Given the description of an element on the screen output the (x, y) to click on. 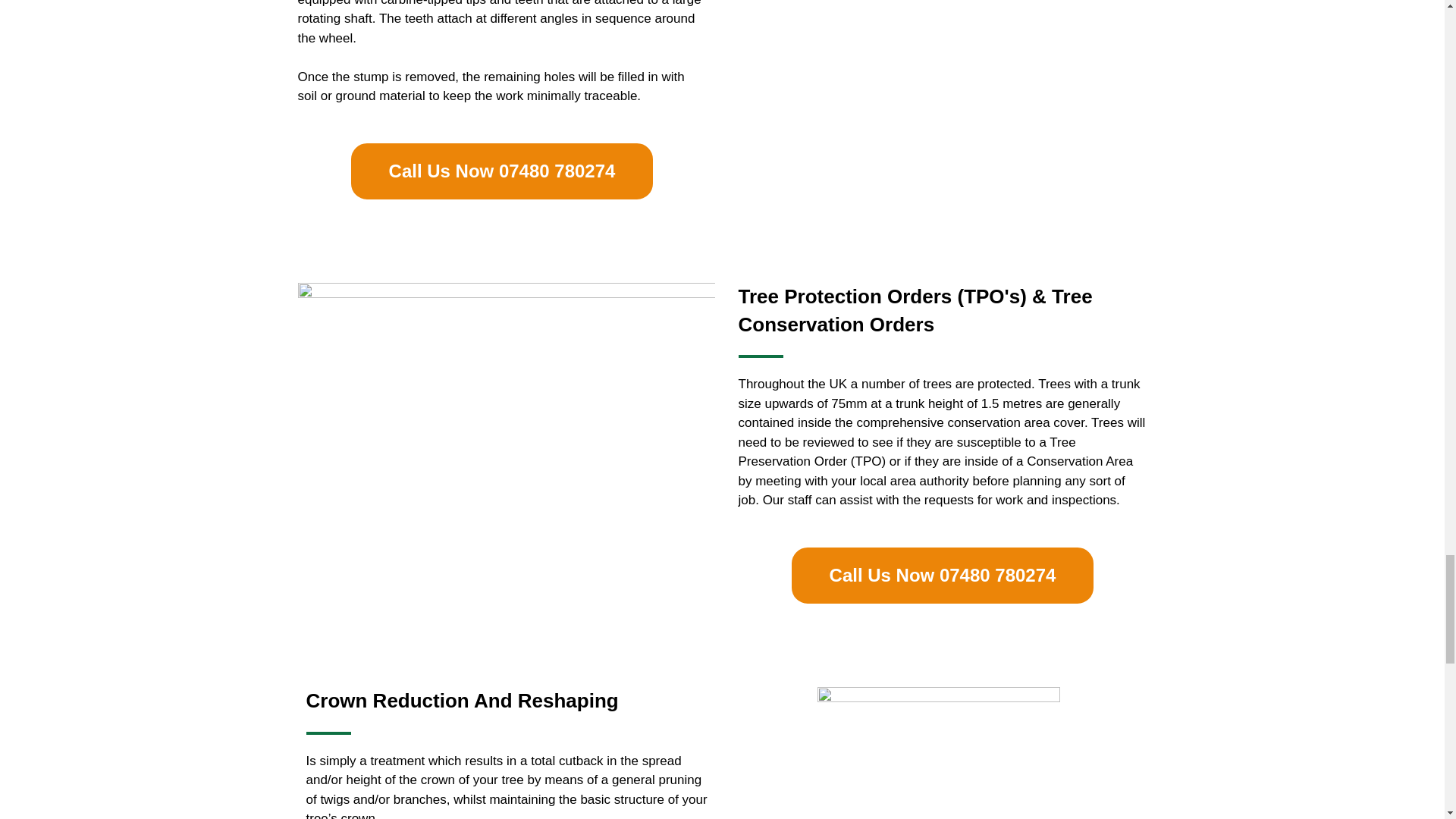
Call Us Now 07480 780274 (943, 575)
Call Us Now 07480 780274 (501, 171)
